Given the description of an element on the screen output the (x, y) to click on. 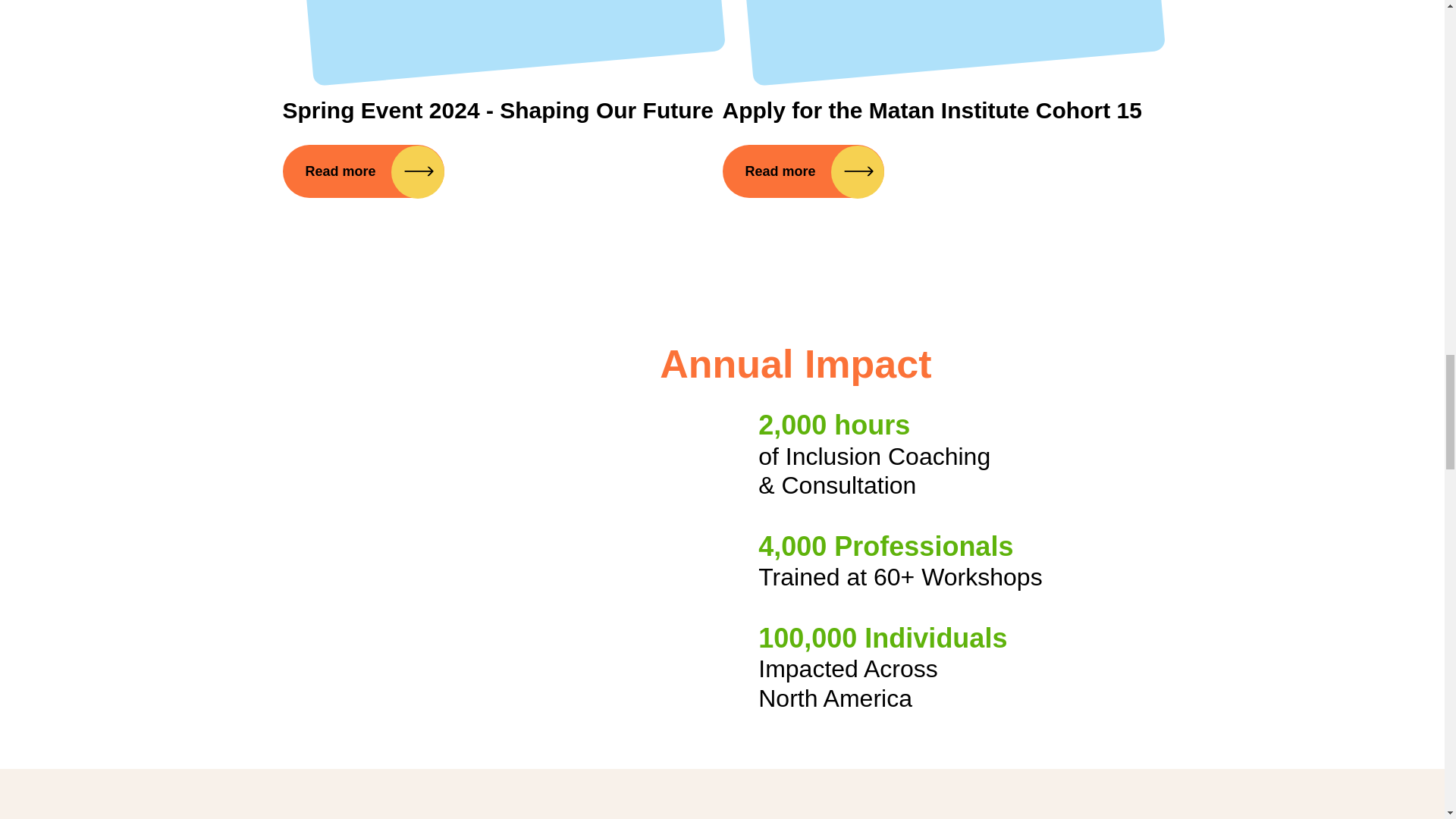
Read more (802, 171)
Read more (363, 171)
